Given the description of an element on the screen output the (x, y) to click on. 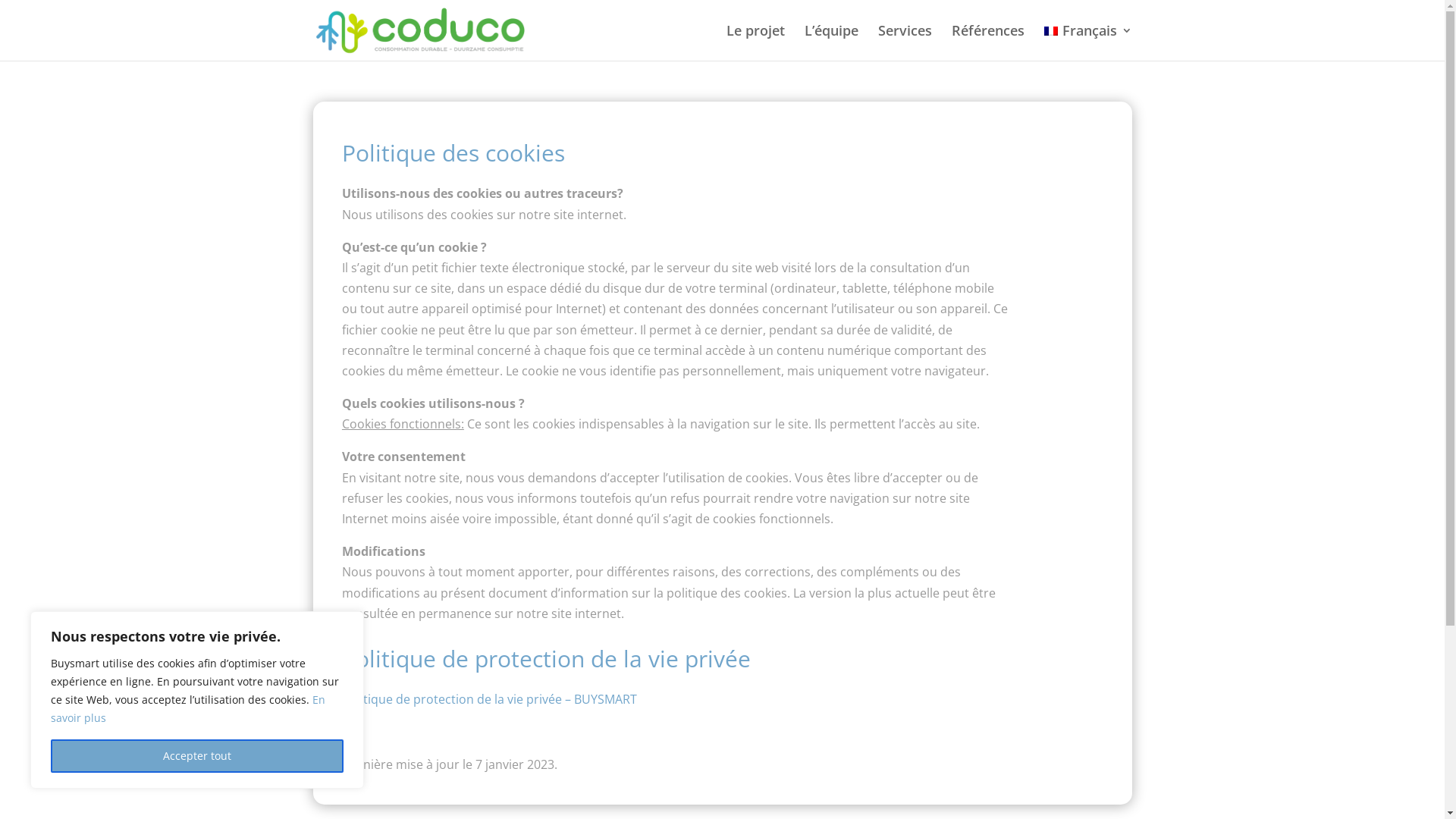
Services Element type: text (904, 42)
En savoir plus Element type: text (187, 708)
Le projet Element type: text (755, 42)
Accepter tout Element type: text (196, 755)
